Given the description of an element on the screen output the (x, y) to click on. 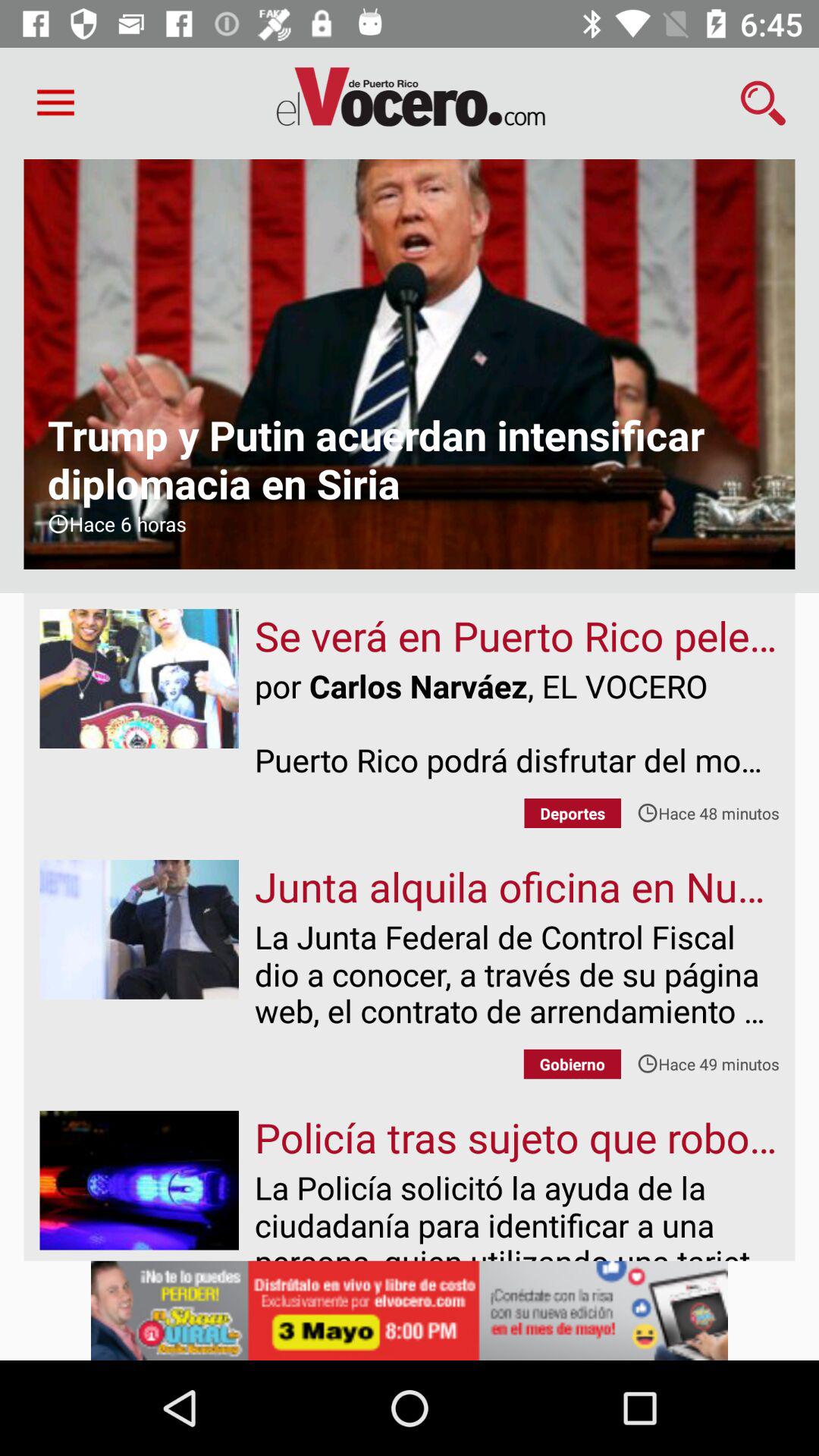
show avertisement (409, 1310)
